Given the description of an element on the screen output the (x, y) to click on. 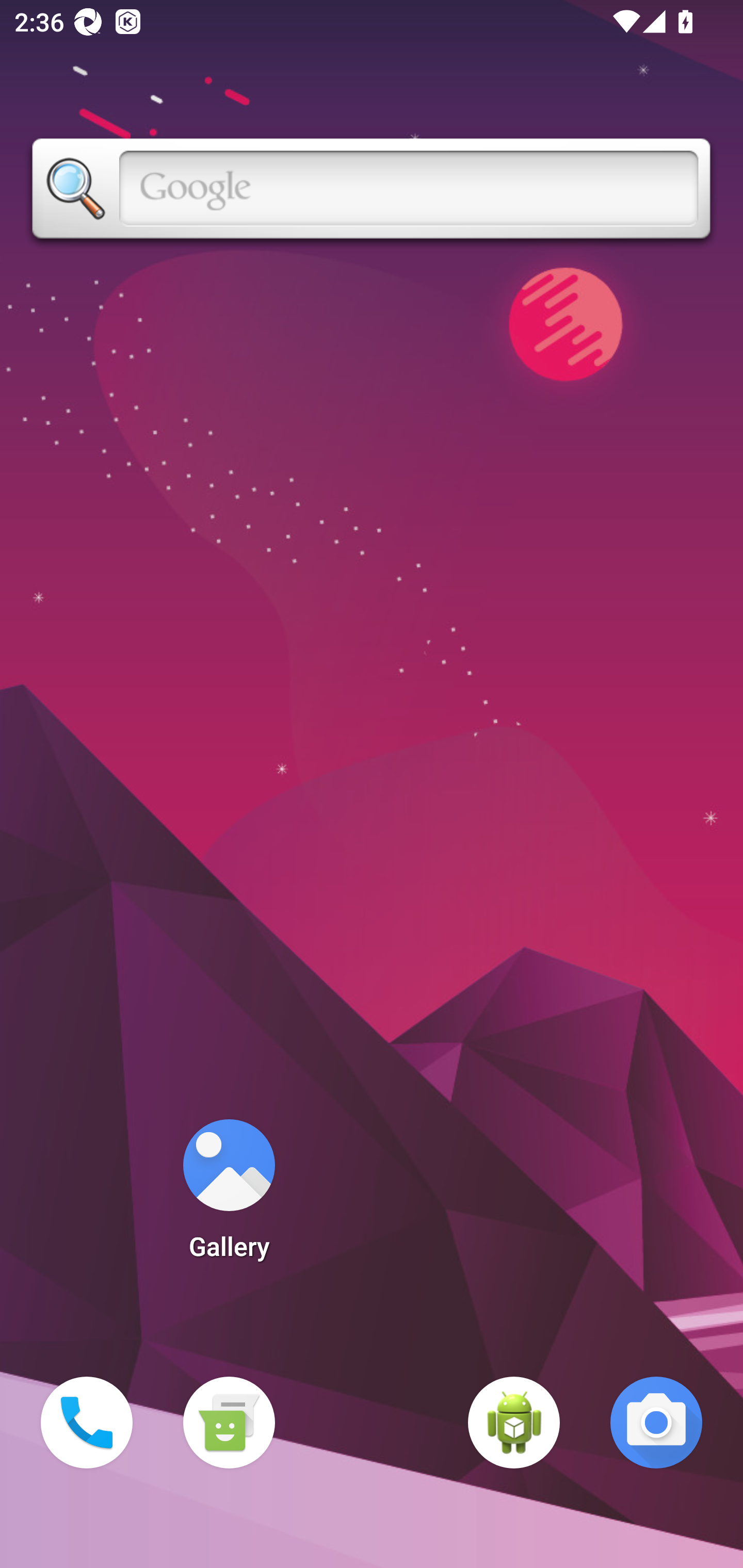
Gallery (228, 1195)
Phone (86, 1422)
Messaging (228, 1422)
WebView Browser Tester (513, 1422)
Camera (656, 1422)
